Given the description of an element on the screen output the (x, y) to click on. 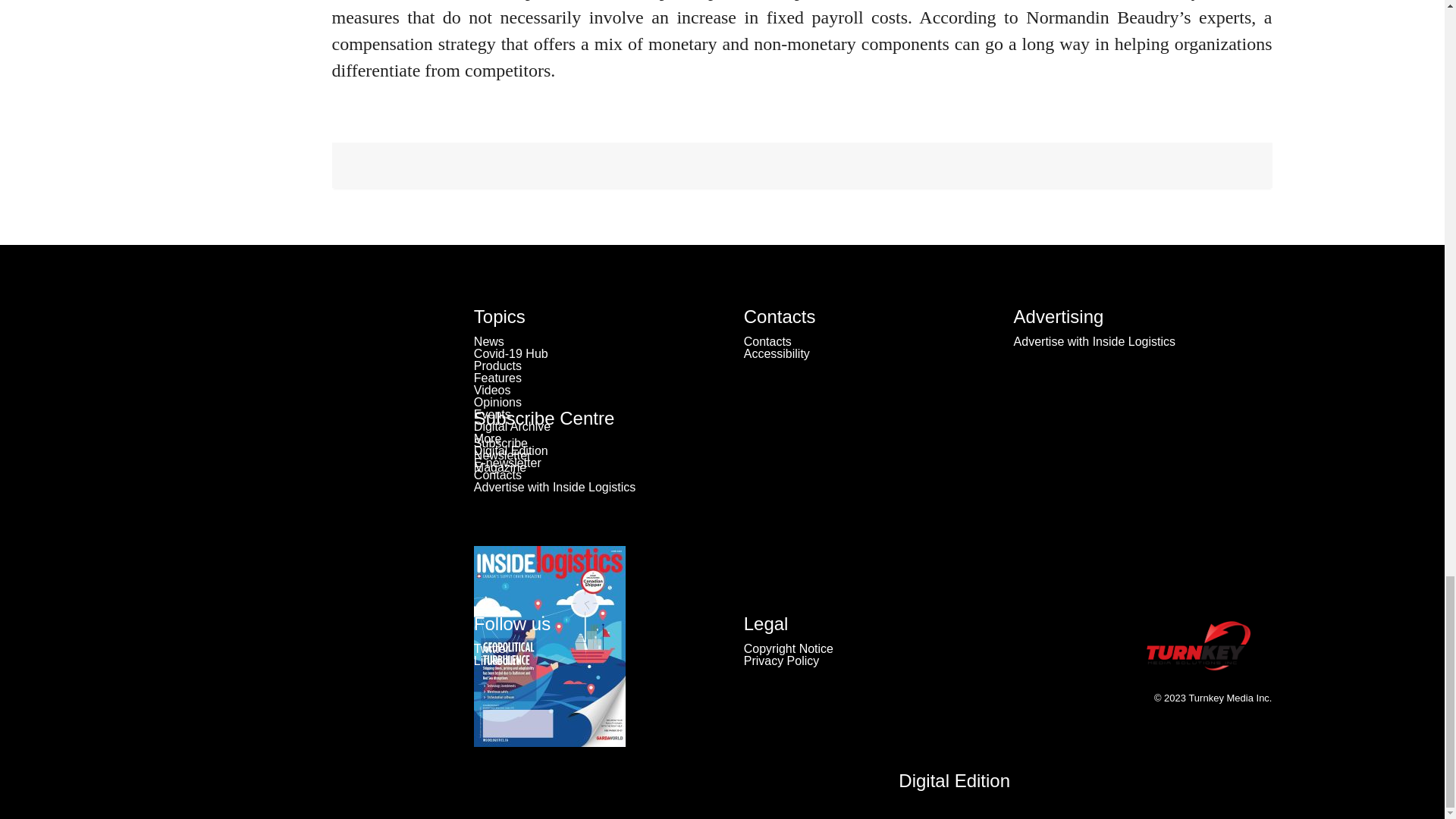
Newsletter (502, 454)
Digital Edition (954, 780)
Magazine (499, 467)
Subscribe (500, 442)
